Given the description of an element on the screen output the (x, y) to click on. 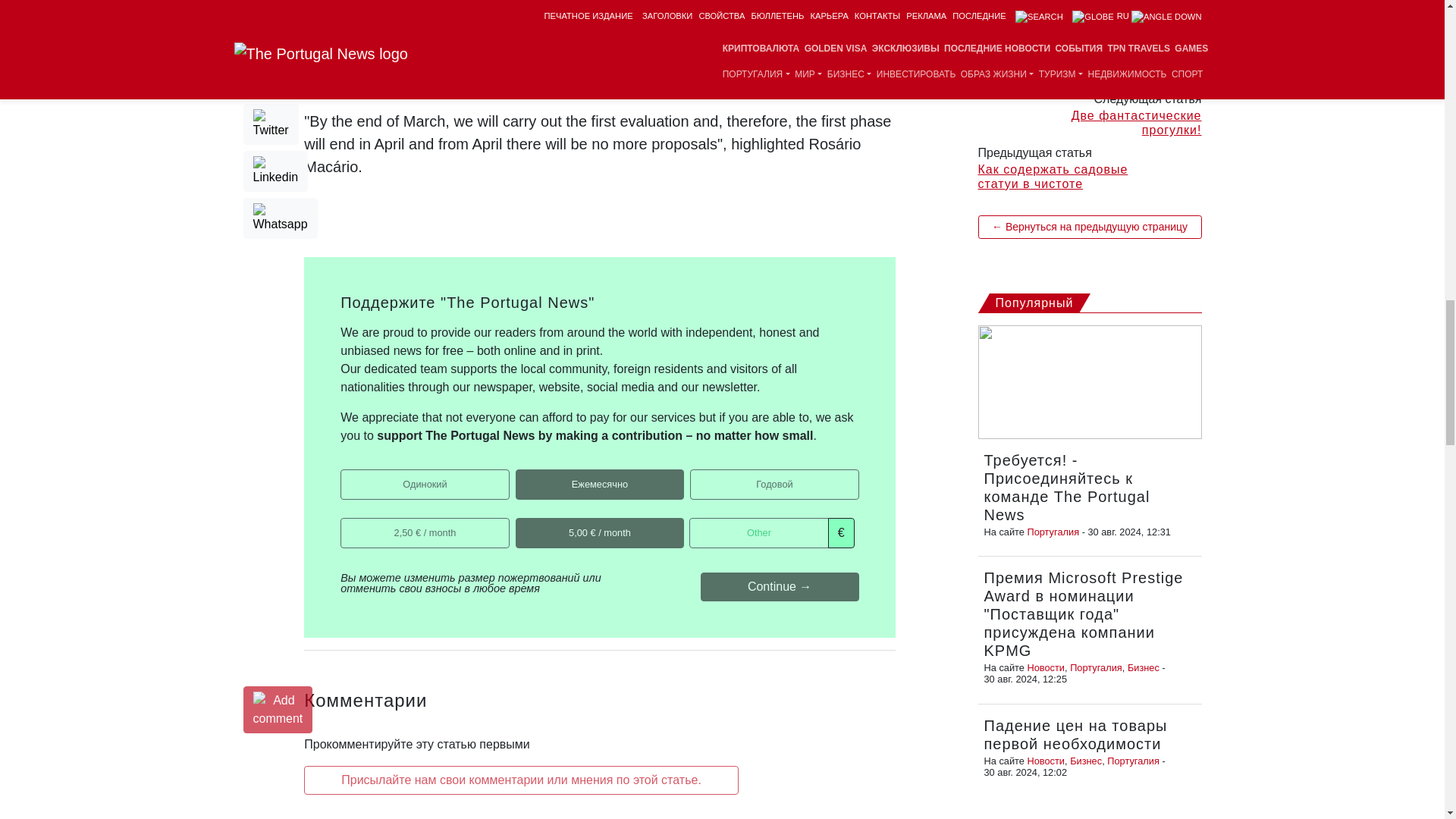
P-18662245734186221MGVD6SI (695, 474)
5 (520, 522)
single (345, 474)
2.5 (345, 522)
P-6T2758016F920900CMGGQYMQ (520, 474)
